Given the description of an element on the screen output the (x, y) to click on. 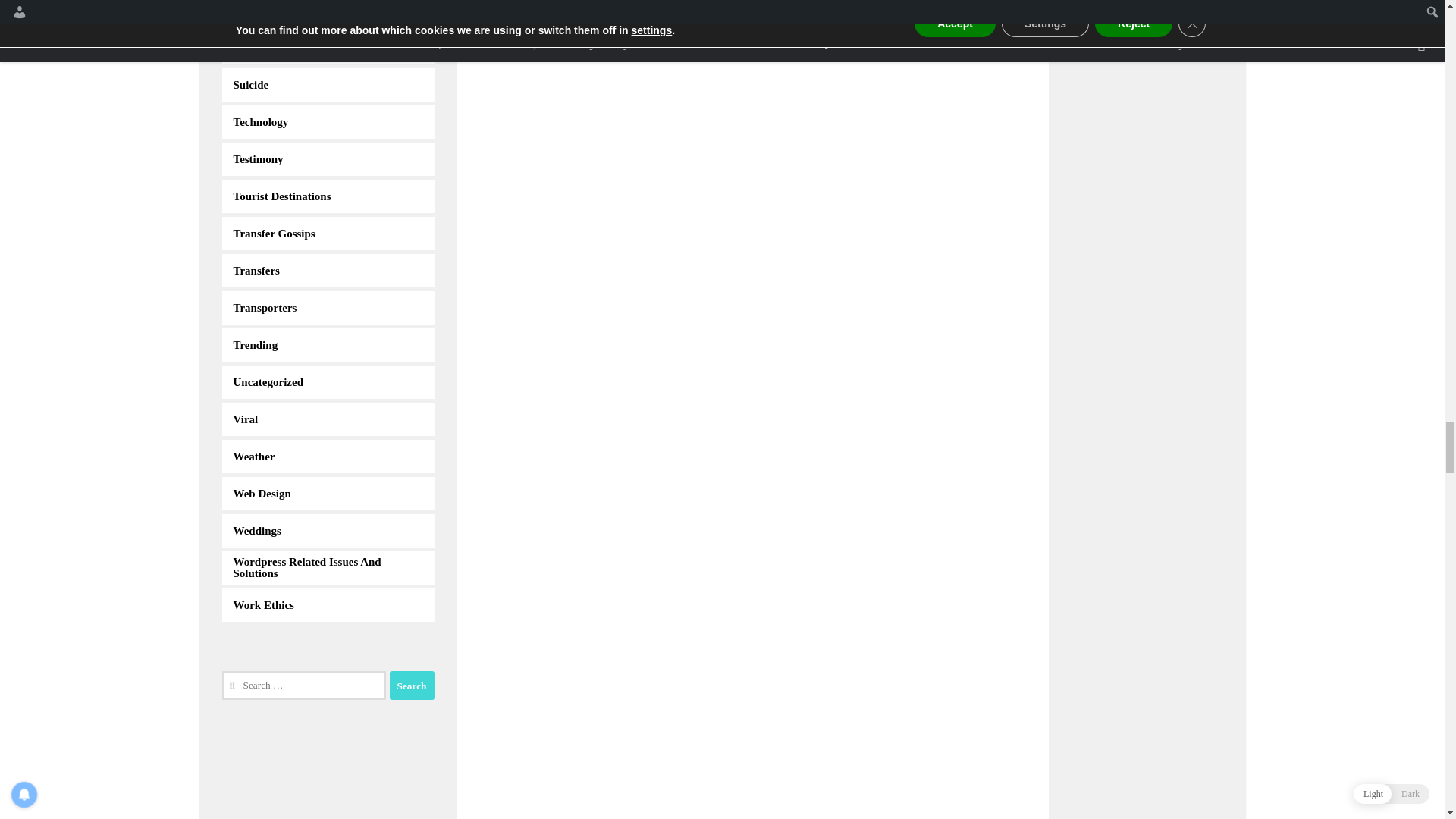
Search (411, 685)
Search (411, 685)
